Given the description of an element on the screen output the (x, y) to click on. 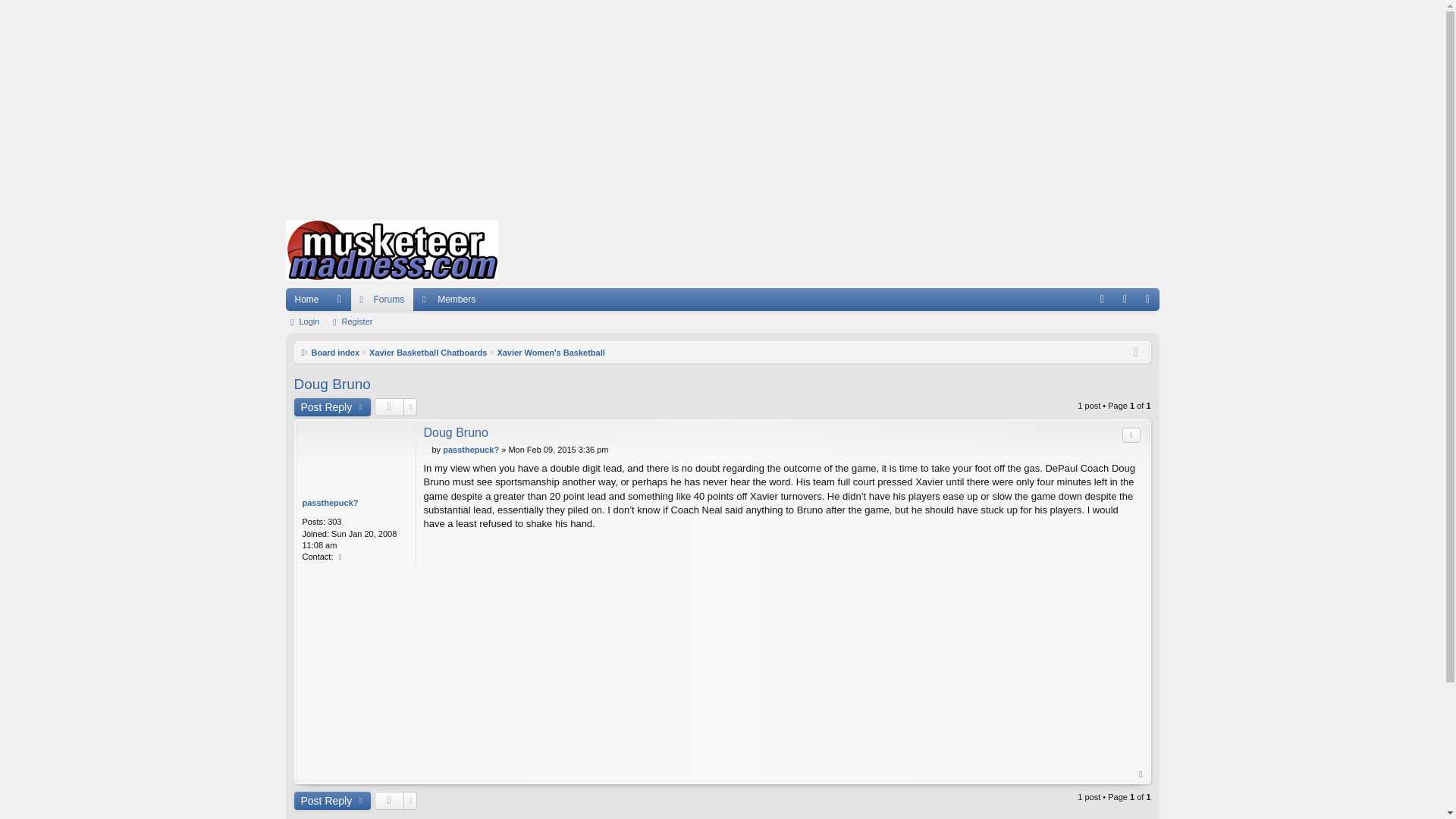
Login (304, 322)
Post Reply (332, 800)
Xavier Women's Basketball (550, 352)
Top (1141, 774)
Post Reply (332, 407)
Doug Bruno (455, 431)
Register (352, 322)
passthepuck? (329, 501)
Top (1141, 774)
passthepuck? (470, 449)
Post (426, 448)
Post a reply (332, 407)
Contact passthepuck? (340, 556)
It is currently Thu Jul 25, 2024 8:07 pm (1136, 352)
Topic tools (395, 407)
